Given the description of an element on the screen output the (x, y) to click on. 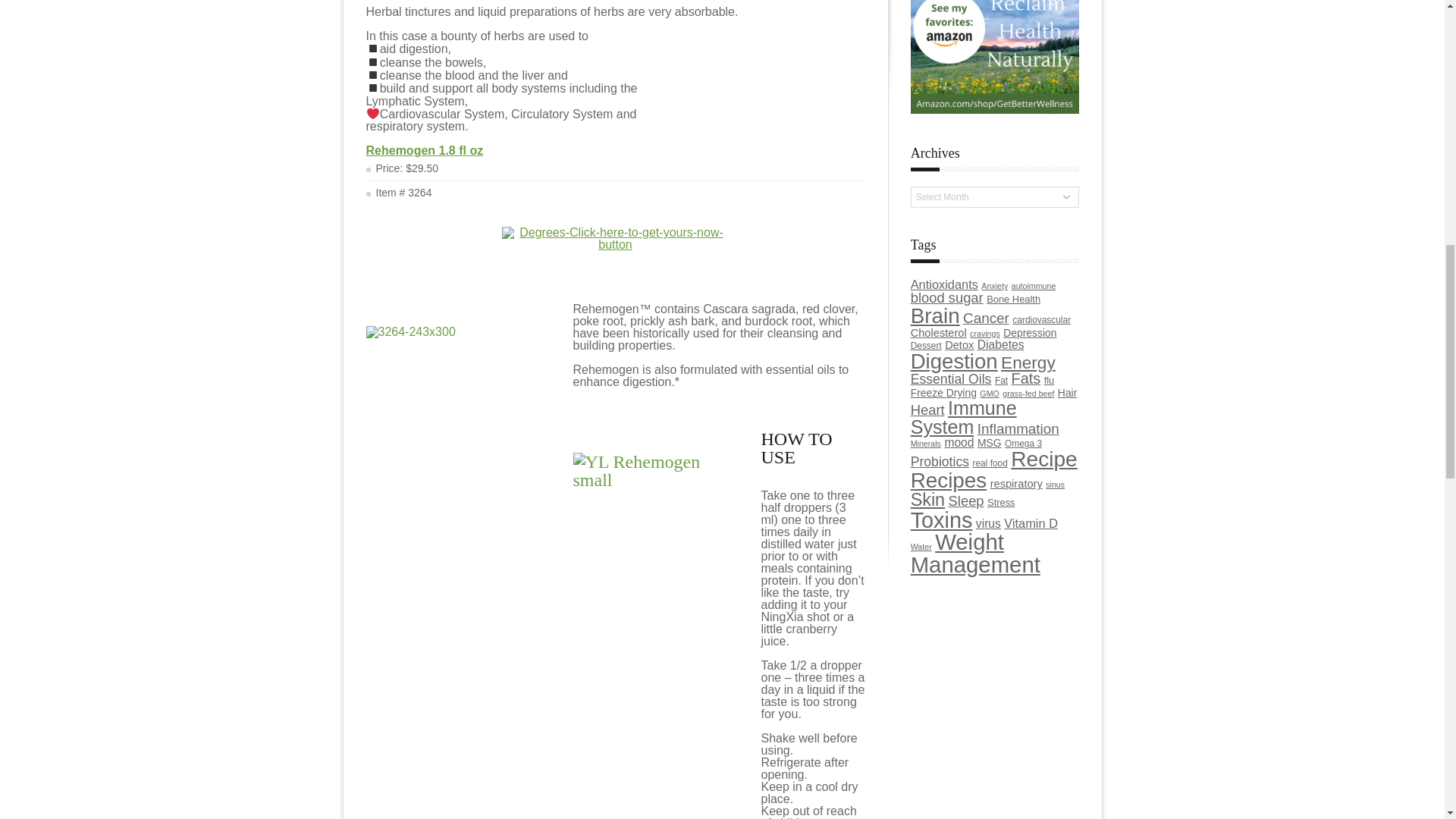
Rehemogen 1.8 fl oz (424, 150)
